Given the description of an element on the screen output the (x, y) to click on. 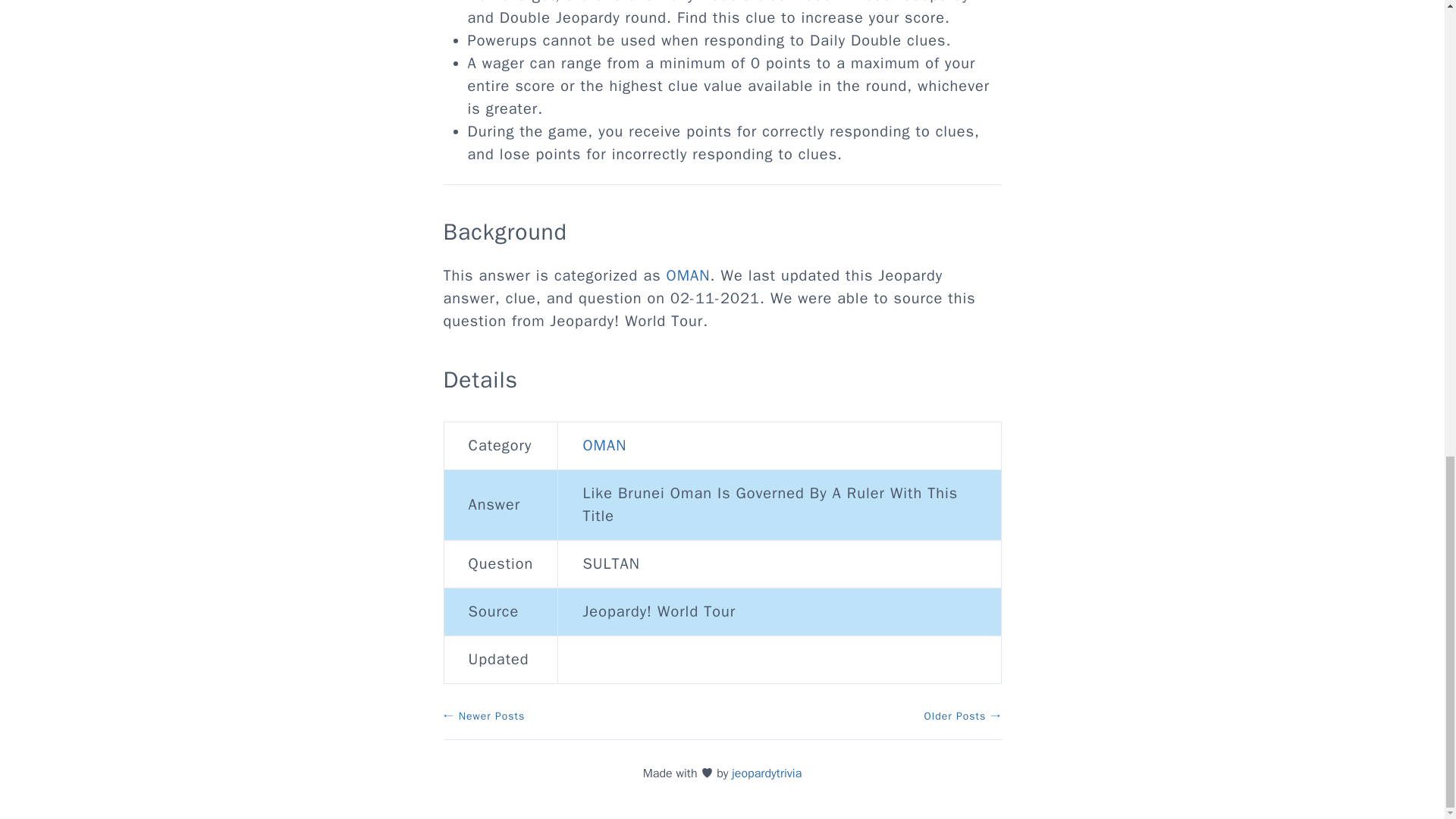
OMAN (688, 275)
OMAN (604, 445)
jeopardytrivia (767, 773)
